Given the description of an element on the screen output the (x, y) to click on. 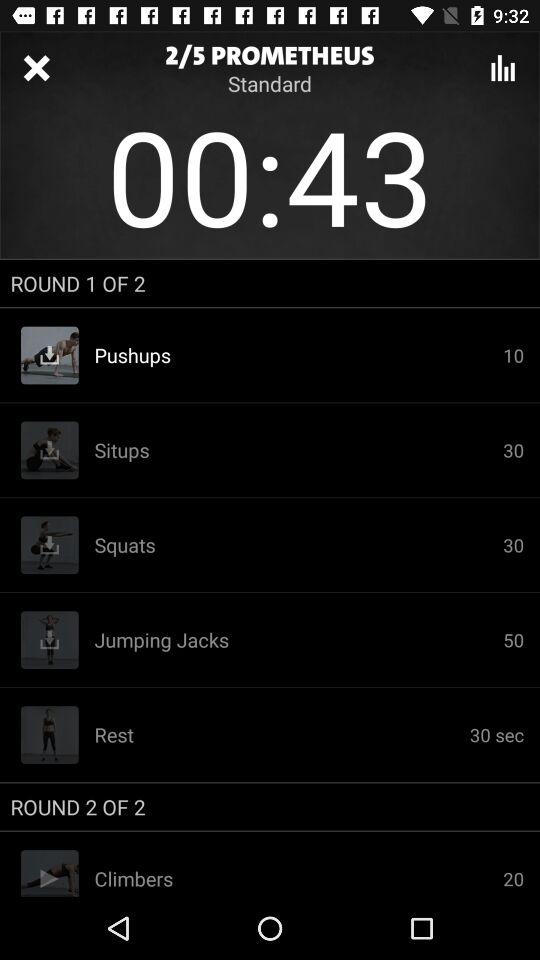
show a graphic about lose weight (503, 68)
